Given the description of an element on the screen output the (x, y) to click on. 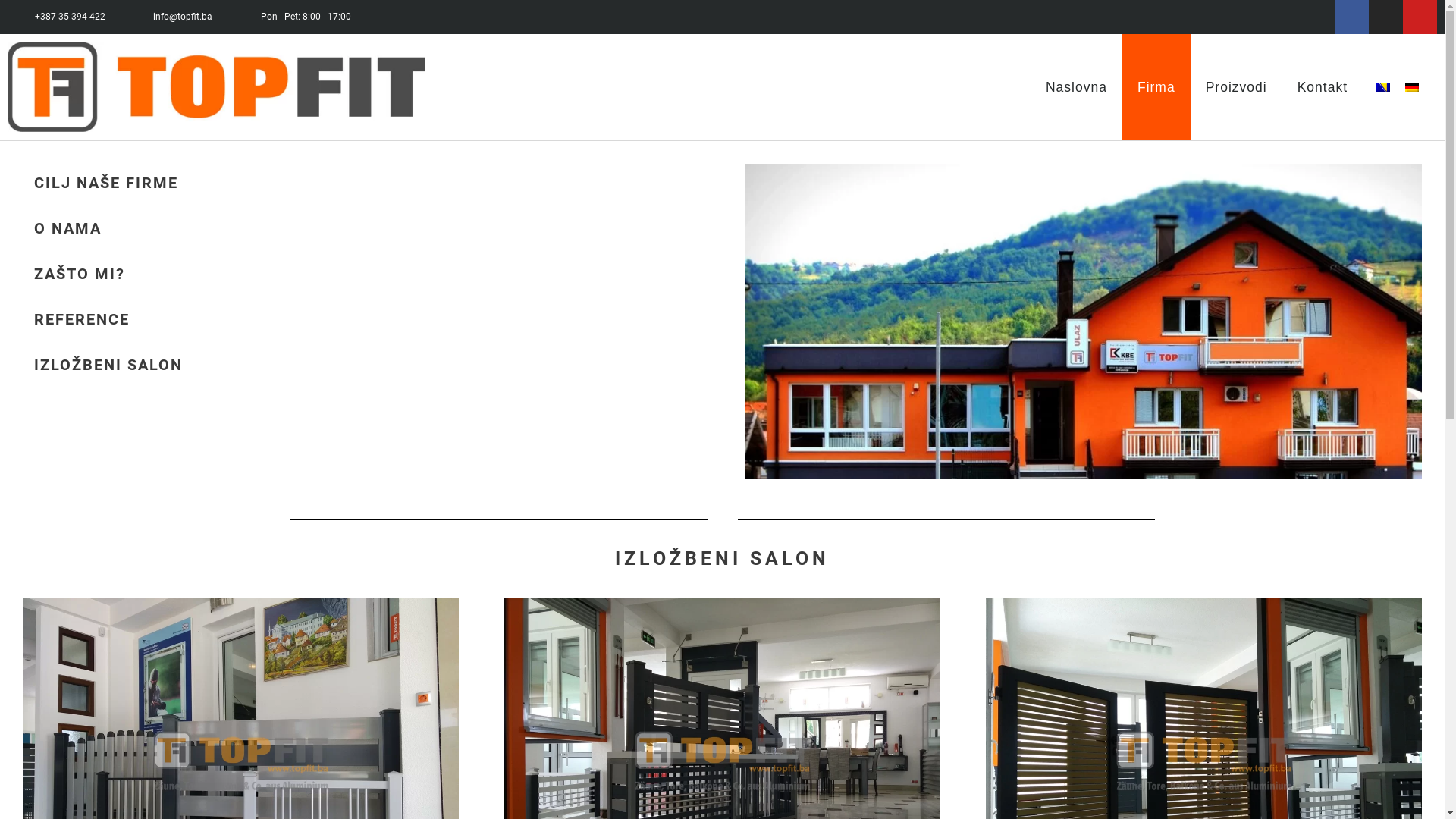
O NAMA Element type: text (67, 228)
Naslovna Element type: text (1076, 87)
Firma Element type: text (1156, 87)
Kontakt Element type: text (1322, 87)
REFERENCE Element type: text (81, 319)
Proizvodi Element type: text (1236, 87)
